Given the description of an element on the screen output the (x, y) to click on. 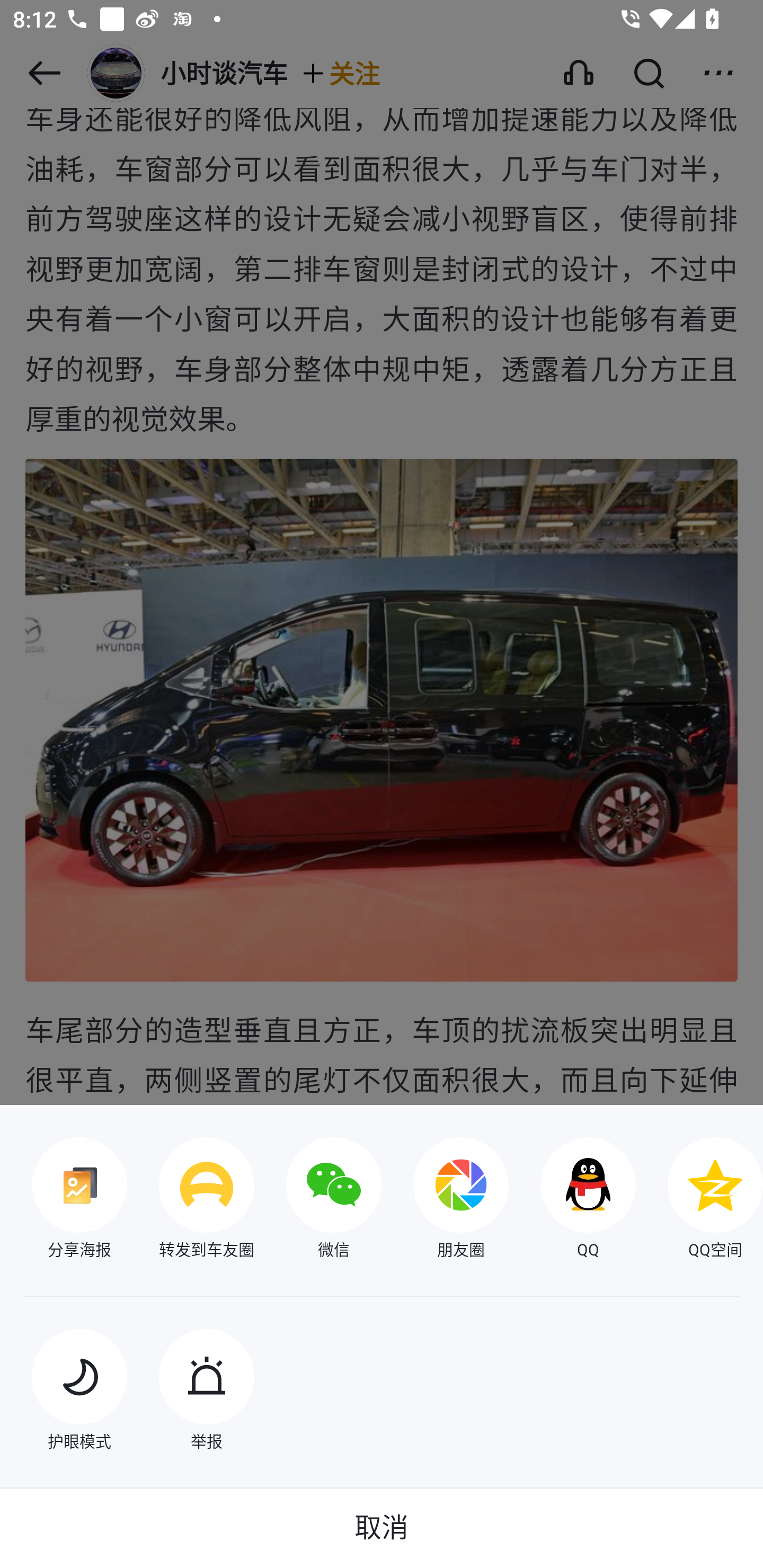
分享海报 (63, 1200)
转发到车友圈 (190, 1200)
微信 (317, 1200)
朋友圈 (444, 1200)
QQ (571, 1200)
QQ空间 (699, 1200)
 护眼模式 (63, 1392)
 举报 (190, 1392)
取消 (381, 1528)
